Given the description of an element on the screen output the (x, y) to click on. 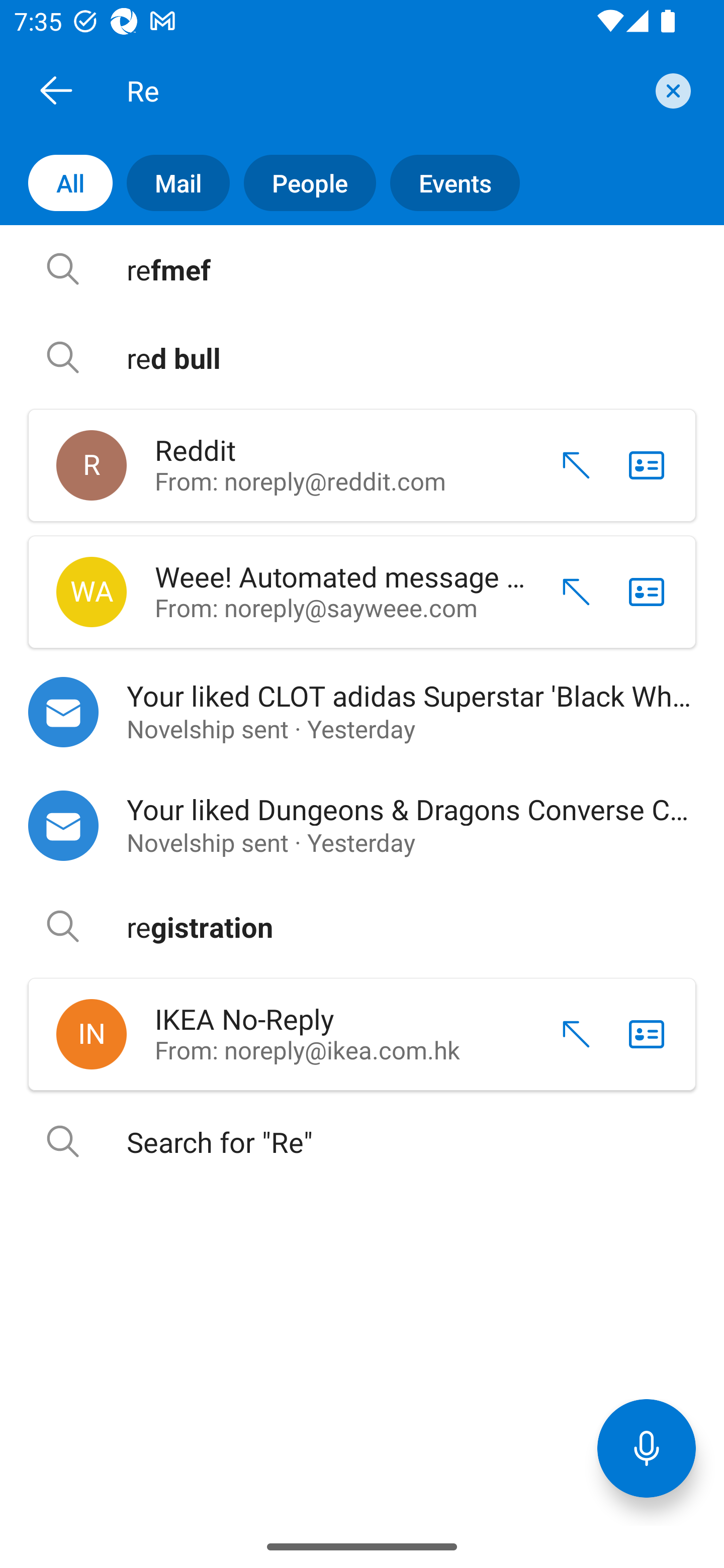
Back (55, 89)
Re (384, 89)
clear search (670, 90)
Mail (170, 183)
People (302, 183)
Events (447, 183)
Suggested search , Text, refmef refmef (362, 269)
Suggested search , Text, red bull red bull (362, 357)
Contact elevation (569, 465)
Contact Details (646, 465)
Contact elevation (569, 591)
Contact Details (646, 591)
Suggested search , Text, registration registration (362, 926)
Contact elevation (569, 1034)
Contact Details (646, 1034)
Voice Assistant (646, 1447)
